Given the description of an element on the screen output the (x, y) to click on. 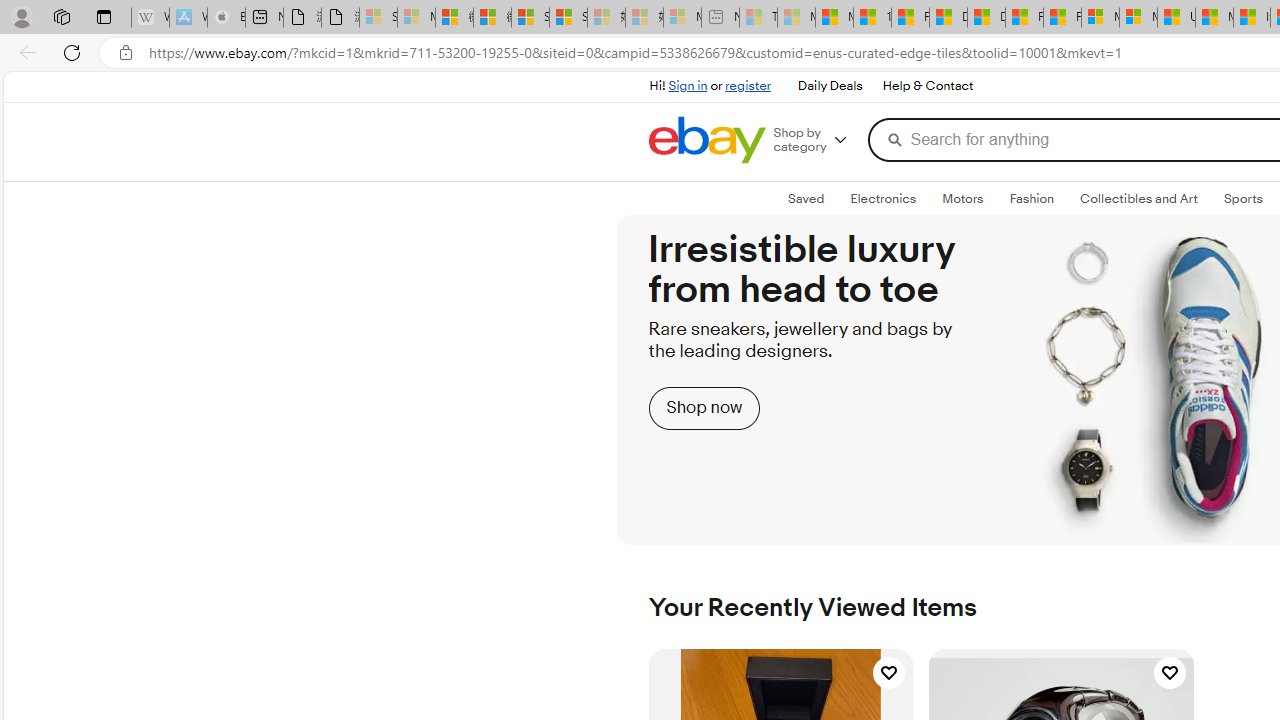
MotorsExpand: Motors (963, 199)
Sign in to your Microsoft account - Sleeping (377, 17)
Food and Drink - MSN (910, 17)
Electronics (882, 198)
Help & Contact (927, 86)
eBay Home (706, 139)
eBay Home (706, 139)
Microsoft Services Agreement - Sleeping (416, 17)
Top Stories - MSN - Sleeping (757, 17)
Foo BAR | Trusted Community Engagement and Contributions (1062, 17)
